Given the description of an element on the screen output the (x, y) to click on. 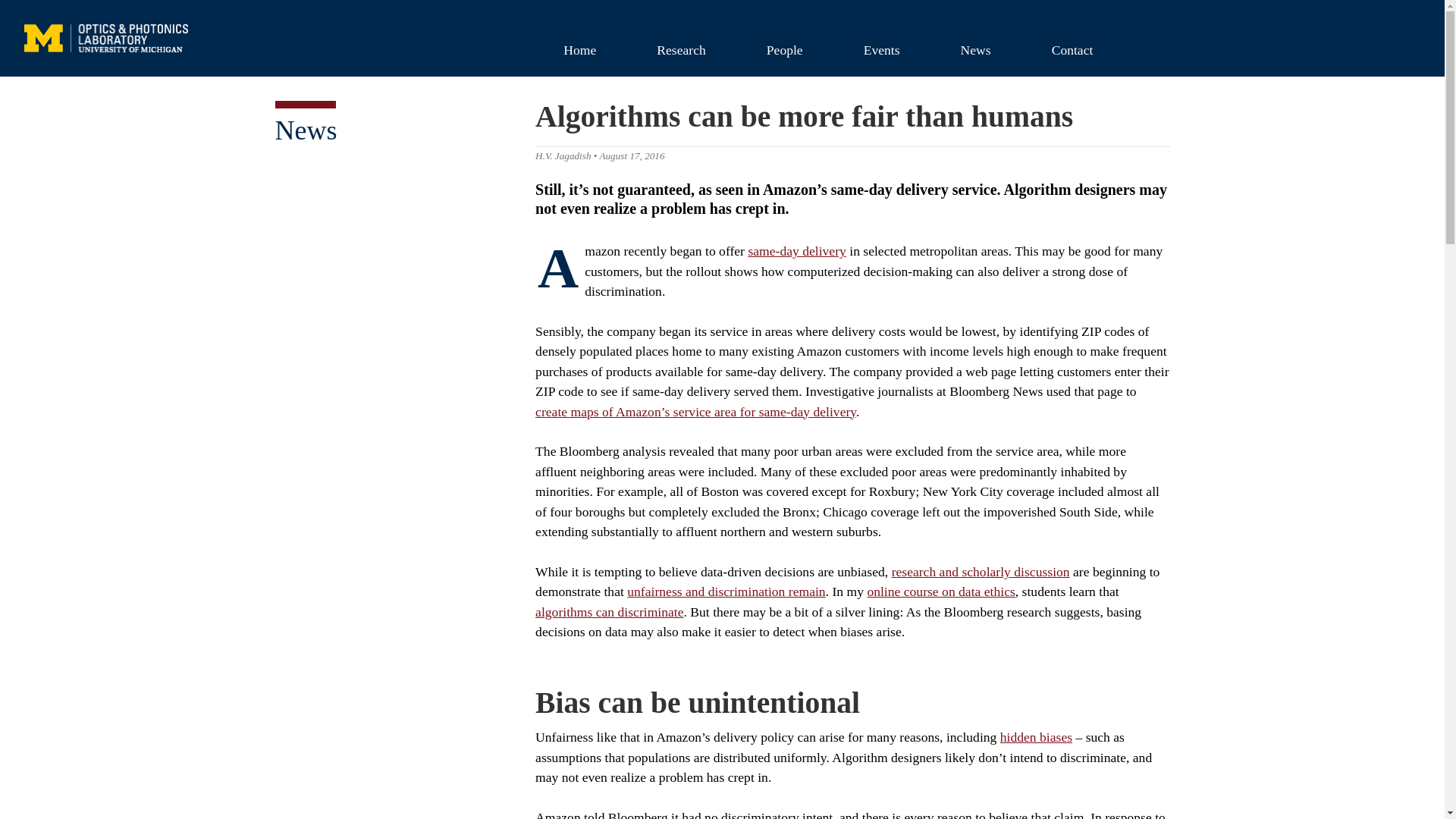
Events (881, 49)
News (305, 130)
Home (579, 49)
same-day delivery (796, 250)
hidden biases (1035, 736)
online course on data ethics (940, 590)
unfairness and discrimination remain (726, 590)
Research (681, 49)
algorithms can discriminate (608, 611)
research and scholarly discussion (980, 571)
People (784, 49)
News (976, 49)
Contact (1072, 49)
